Given the description of an element on the screen output the (x, y) to click on. 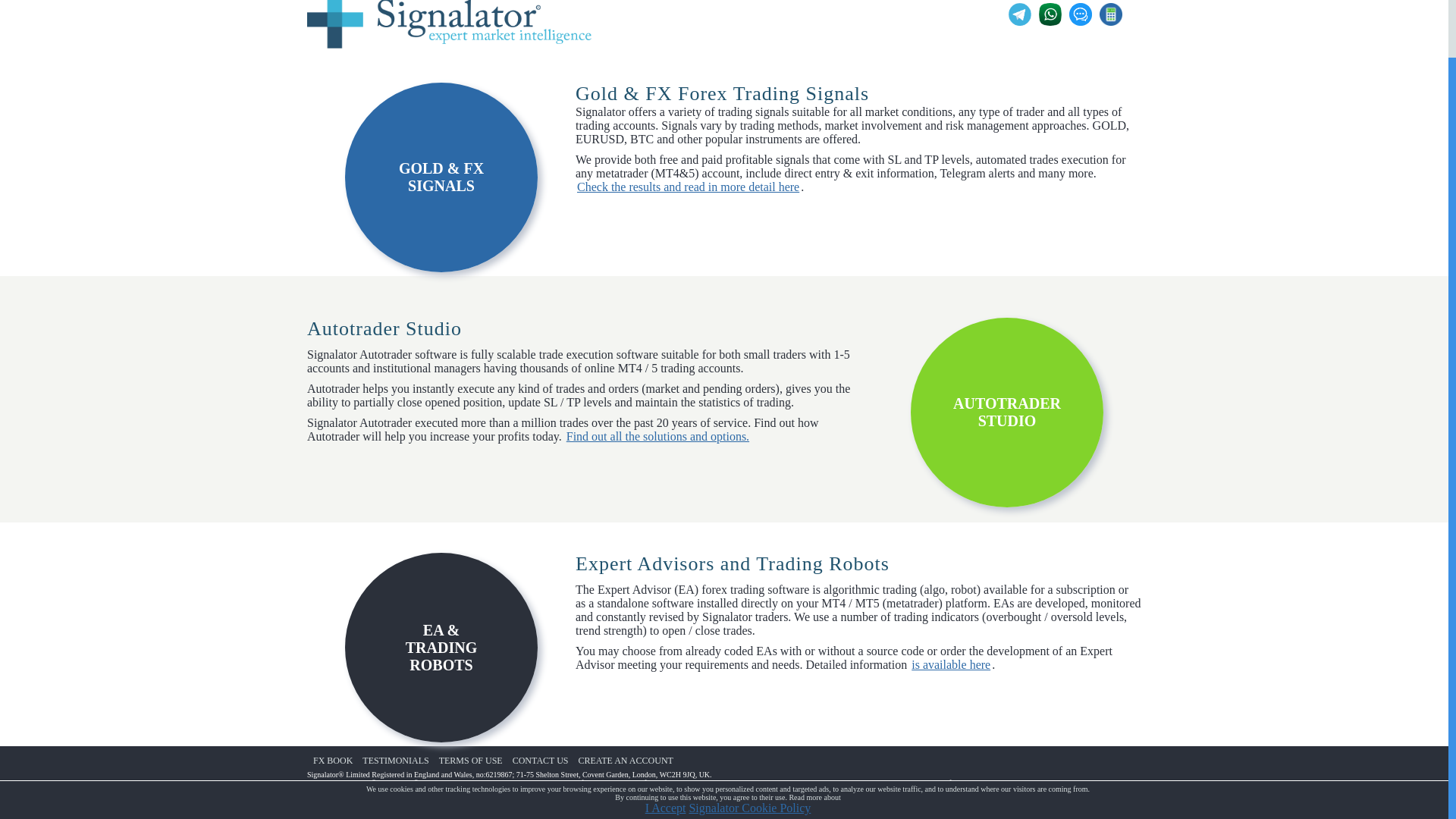
CONTACT US (540, 760)
TESTIMONIALS (395, 760)
CREATE AN ACCOUNT (626, 760)
FX BOOK (332, 760)
I Accept (665, 745)
TERMS OF USE (470, 760)
Find out all the solutions and options. (657, 436)
is available here (950, 664)
AUTOTRADER STUDIO (1007, 411)
Signalator Cookie Policy (749, 745)
Check the results and read in more detail here (687, 186)
